Given the description of an element on the screen output the (x, y) to click on. 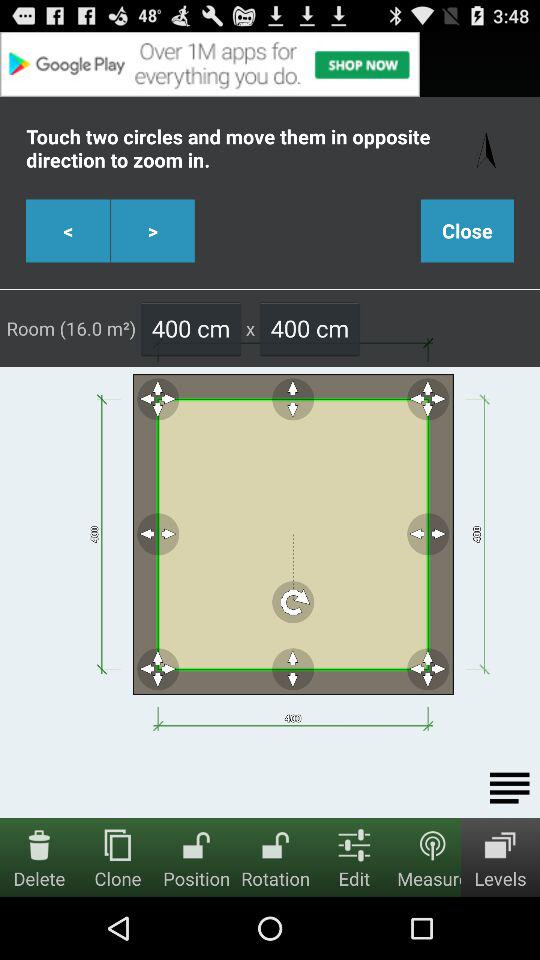
options (509, 787)
